Given the description of an element on the screen output the (x, y) to click on. 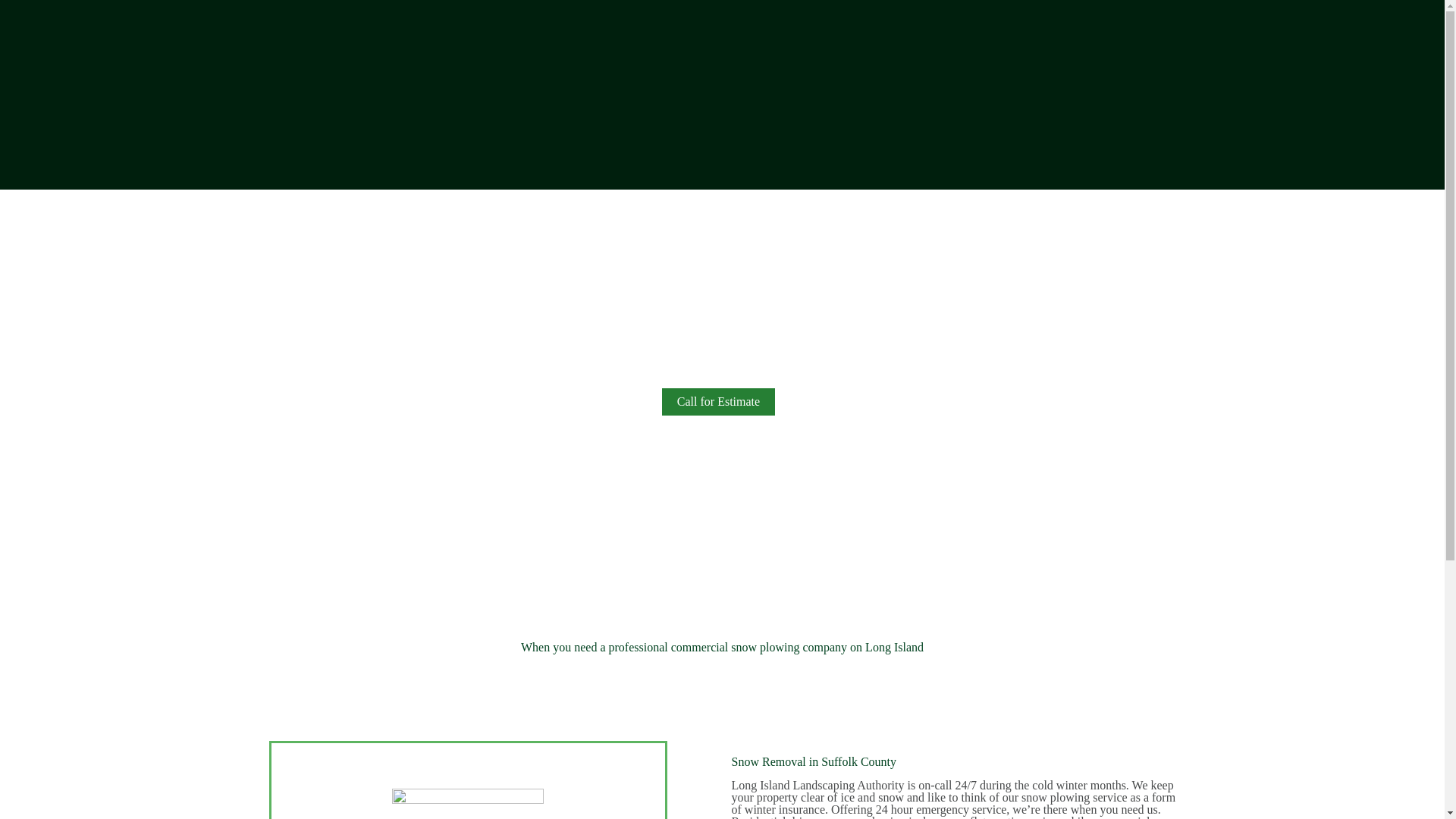
Call for Estimate (718, 401)
Local Media Solutions (1075, 747)
Facebook (711, 767)
Twitter (733, 767)
